Given the description of an element on the screen output the (x, y) to click on. 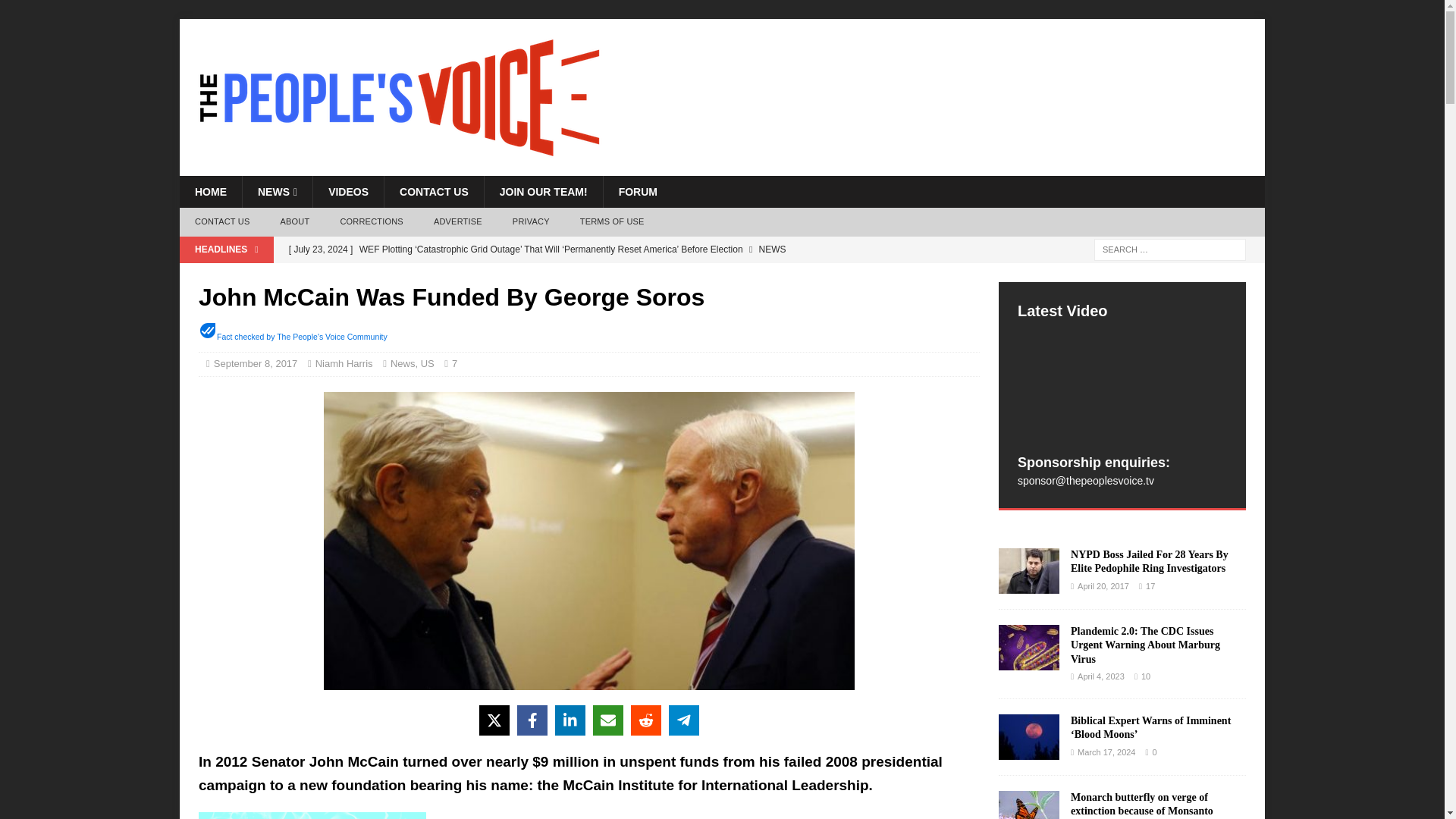
CONTACT US (221, 222)
CORRECTIONS (370, 222)
CONTACT US (433, 192)
JOIN OUR TEAM! (542, 192)
HOME (210, 192)
TERMS OF USE (611, 222)
PRIVACY (530, 222)
NEWS (277, 192)
ABOUT (294, 222)
FORUM (637, 192)
VIDEOS (348, 192)
ADVERTISE (458, 222)
